Given the description of an element on the screen output the (x, y) to click on. 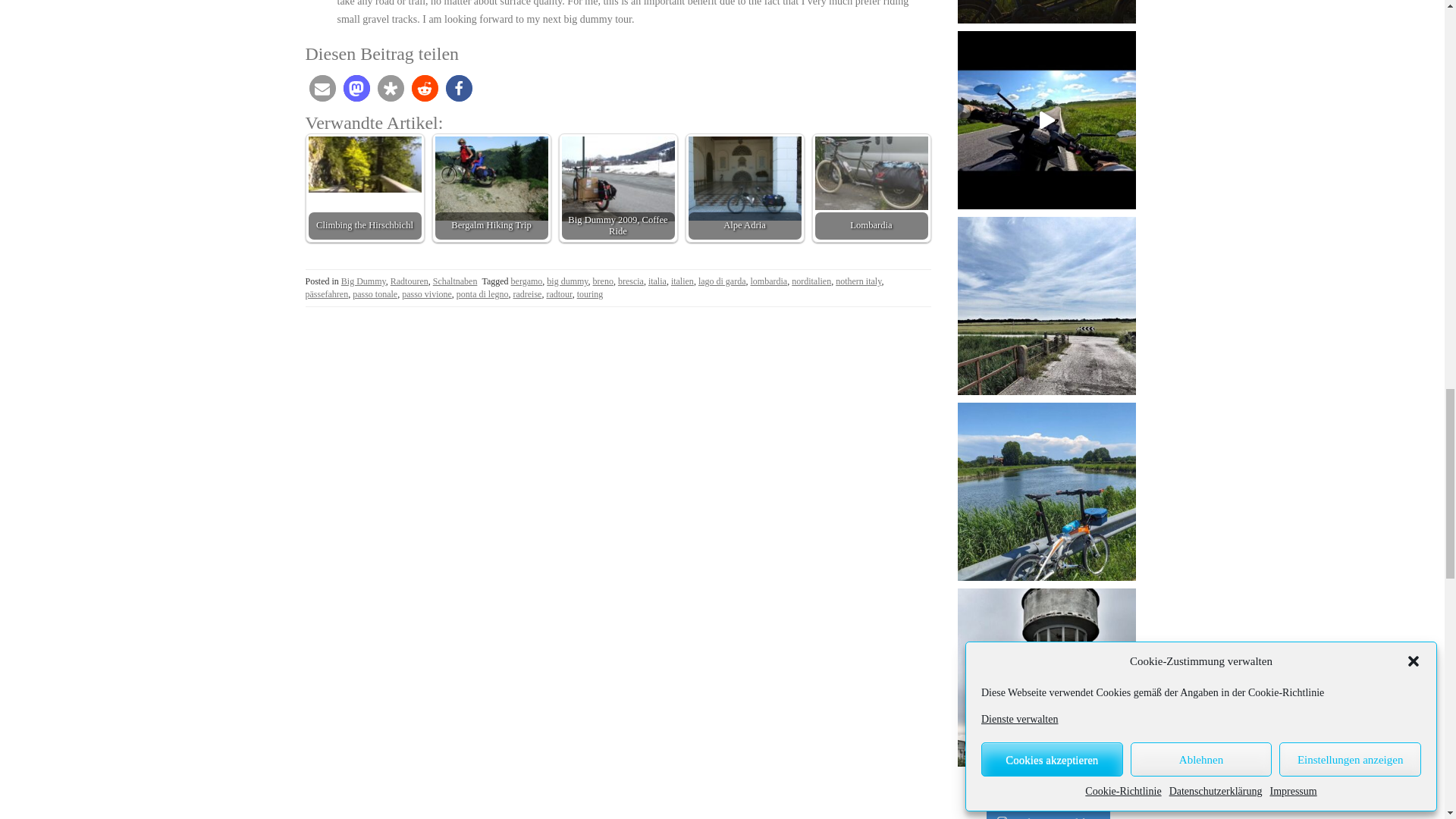
Bergalm Hiking Trip (491, 178)
Bei Mastodon teilen (355, 88)
Alpe Adria (745, 178)
Bei Reddit teilen (424, 88)
Lombardia (870, 172)
Big Dummy 2009, Coffee Ride (617, 178)
Bei Facebook teilen (458, 88)
Climbing the Hirschbichl (363, 164)
Per E-Mail versenden (322, 88)
